Given the description of an element on the screen output the (x, y) to click on. 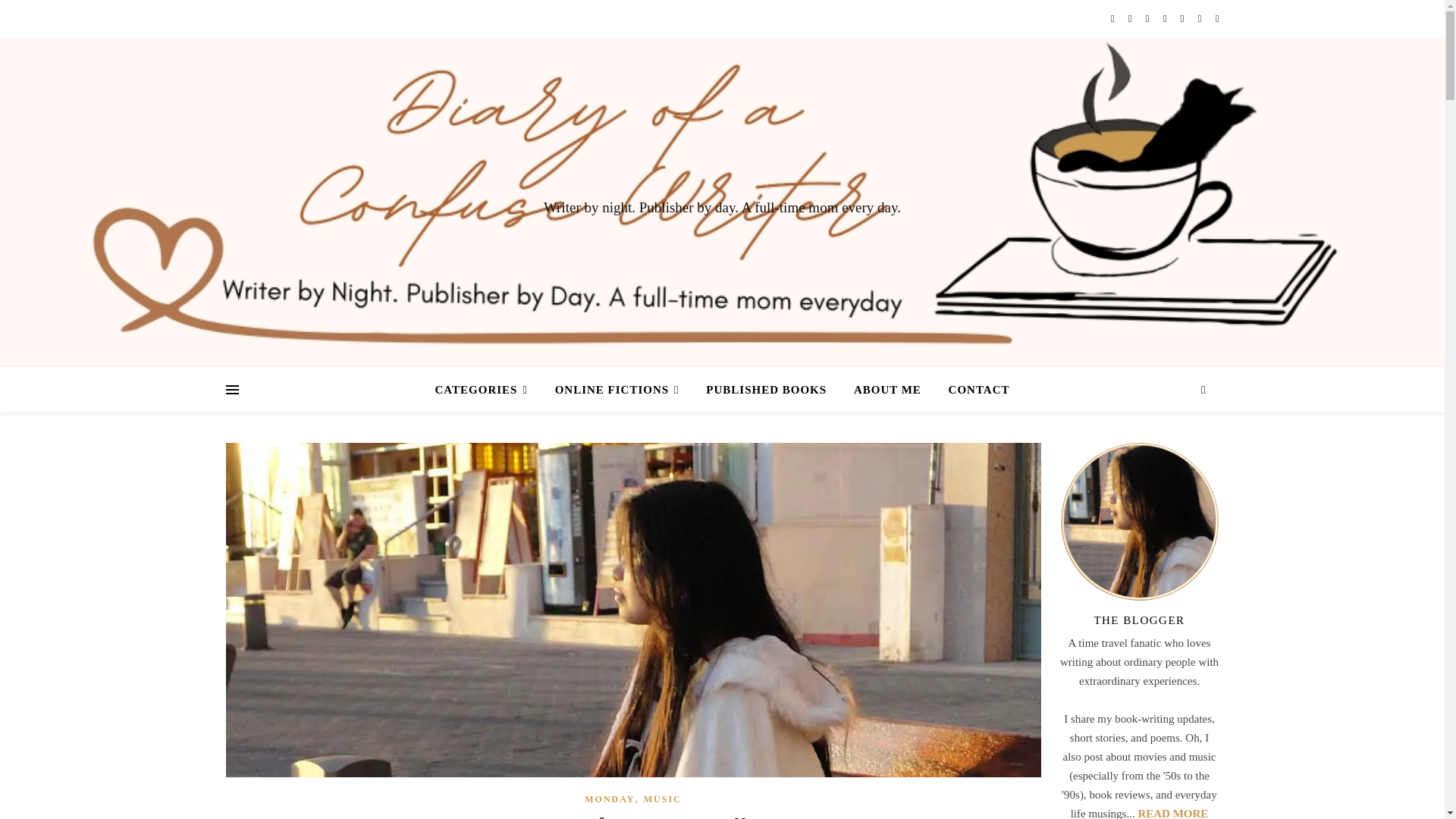
ONLINE FICTIONS (617, 389)
ABOUT ME (887, 389)
CATEGORIES (485, 389)
CONTACT (973, 389)
PUBLISHED BOOKS (766, 389)
